Given the description of an element on the screen output the (x, y) to click on. 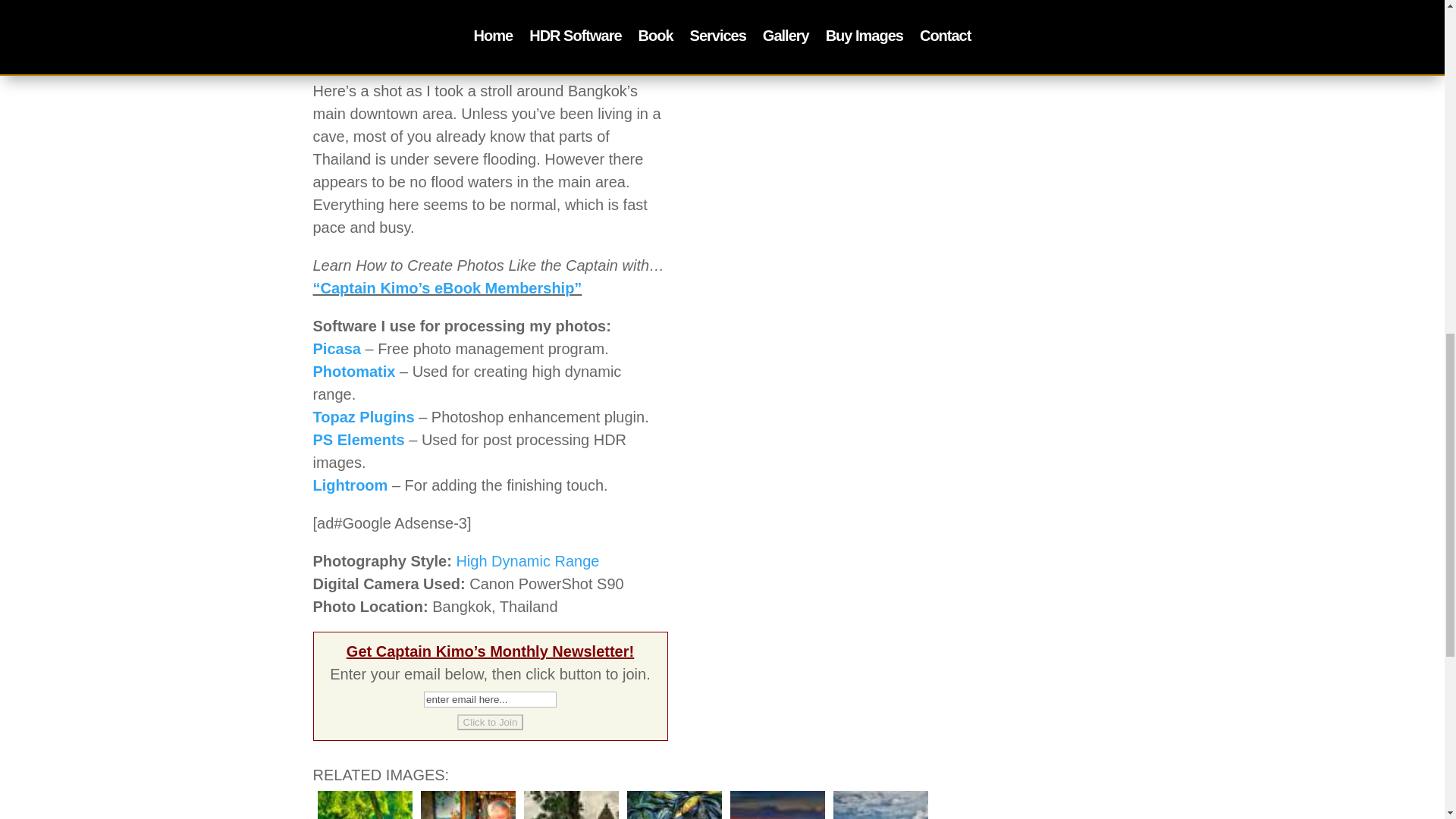
Lightroom (350, 484)
Coral Island Tour Boats - Phuket, Thailand (879, 802)
Small Fishes from Bucket Caught with Cast Net (673, 802)
enter email here... (489, 699)
Click to Join (490, 722)
PS Elements (358, 439)
Photomatix (353, 371)
High Dynamic Range (526, 560)
Click to Join (490, 722)
Fortune Teller at Wat Ek Phnom Battambang Cambodia (466, 802)
Topaz Plugins (363, 416)
Early Morning Exercise at Lumpini Park Bangkok Thailand (364, 802)
Picasa (336, 348)
